Given the description of an element on the screen output the (x, y) to click on. 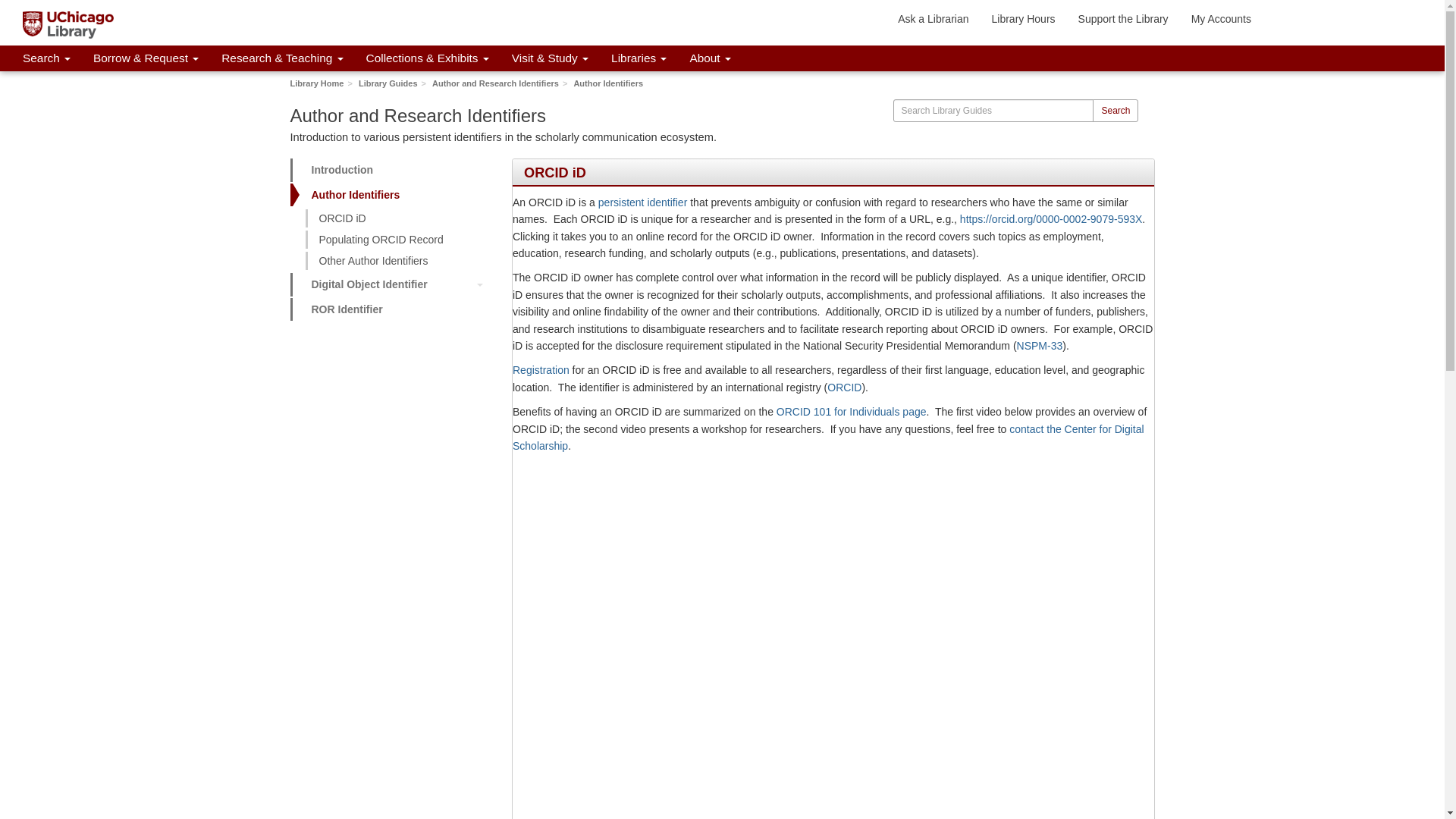
Search (46, 58)
YouTube video player (833, 766)
Support the Library (1123, 18)
Ask a Librarian (932, 18)
My Accounts (1220, 18)
Library Hours (1023, 18)
